Given the description of an element on the screen output the (x, y) to click on. 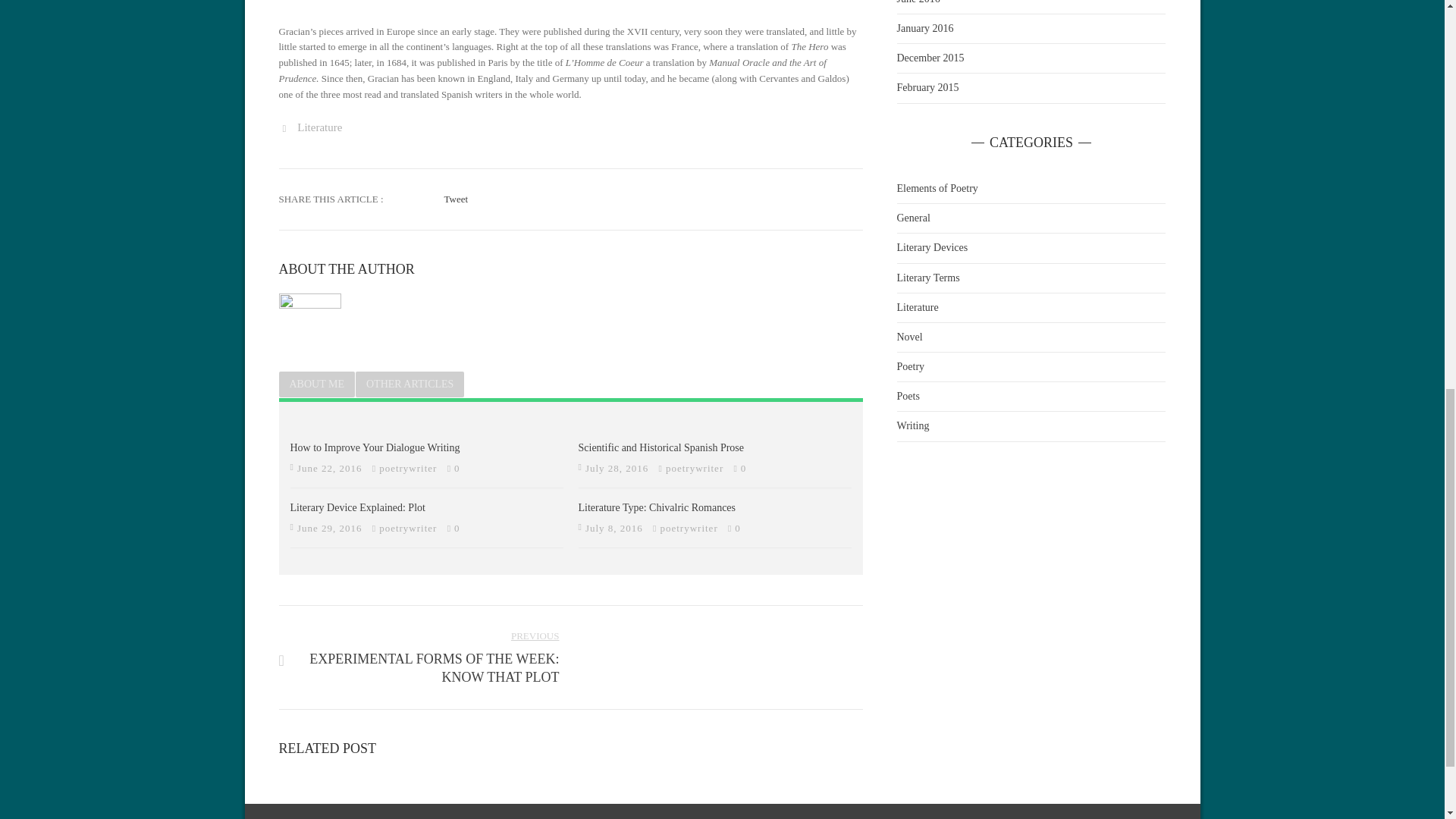
Literature Type: Chivalric Romances (656, 507)
Tweet (456, 198)
OTHER ARTICLES (409, 383)
0 (738, 527)
ABOUT ME (316, 383)
0 (419, 657)
View all posts in Literature (456, 527)
poetrywriter (319, 126)
Literature (695, 468)
poetrywriter (319, 126)
poetrywriter (688, 527)
Scientific and Historical Spanish Prose (408, 527)
How to Improve Your Dialogue Writing (661, 447)
0 (374, 447)
